Given the description of an element on the screen output the (x, y) to click on. 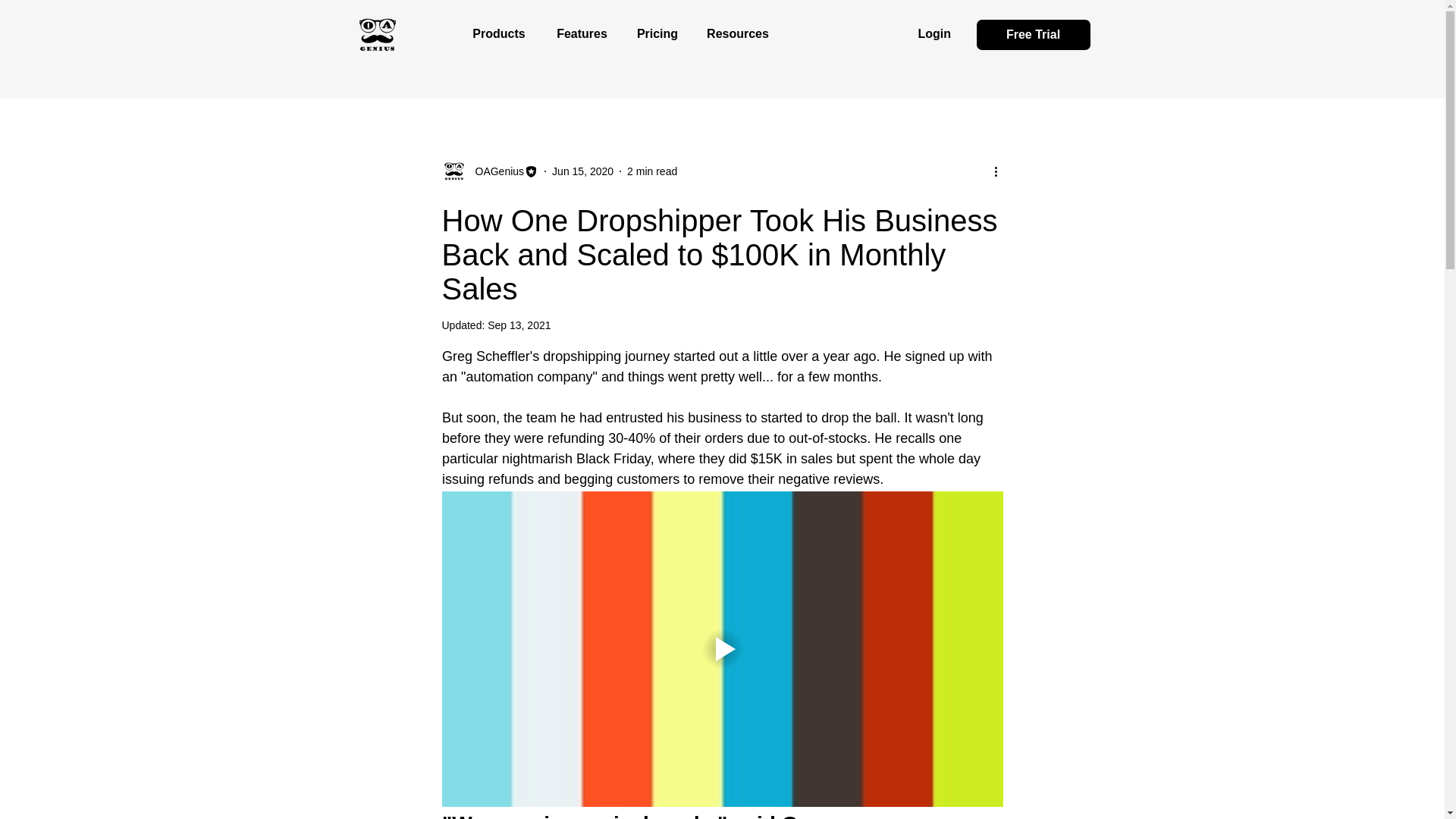
Login (933, 33)
Pricing (658, 33)
2 min read (652, 171)
Sep 13, 2021 (518, 325)
OAGenius (494, 171)
Free Trial (1033, 34)
Jun 15, 2020 (581, 171)
